Given the description of an element on the screen output the (x, y) to click on. 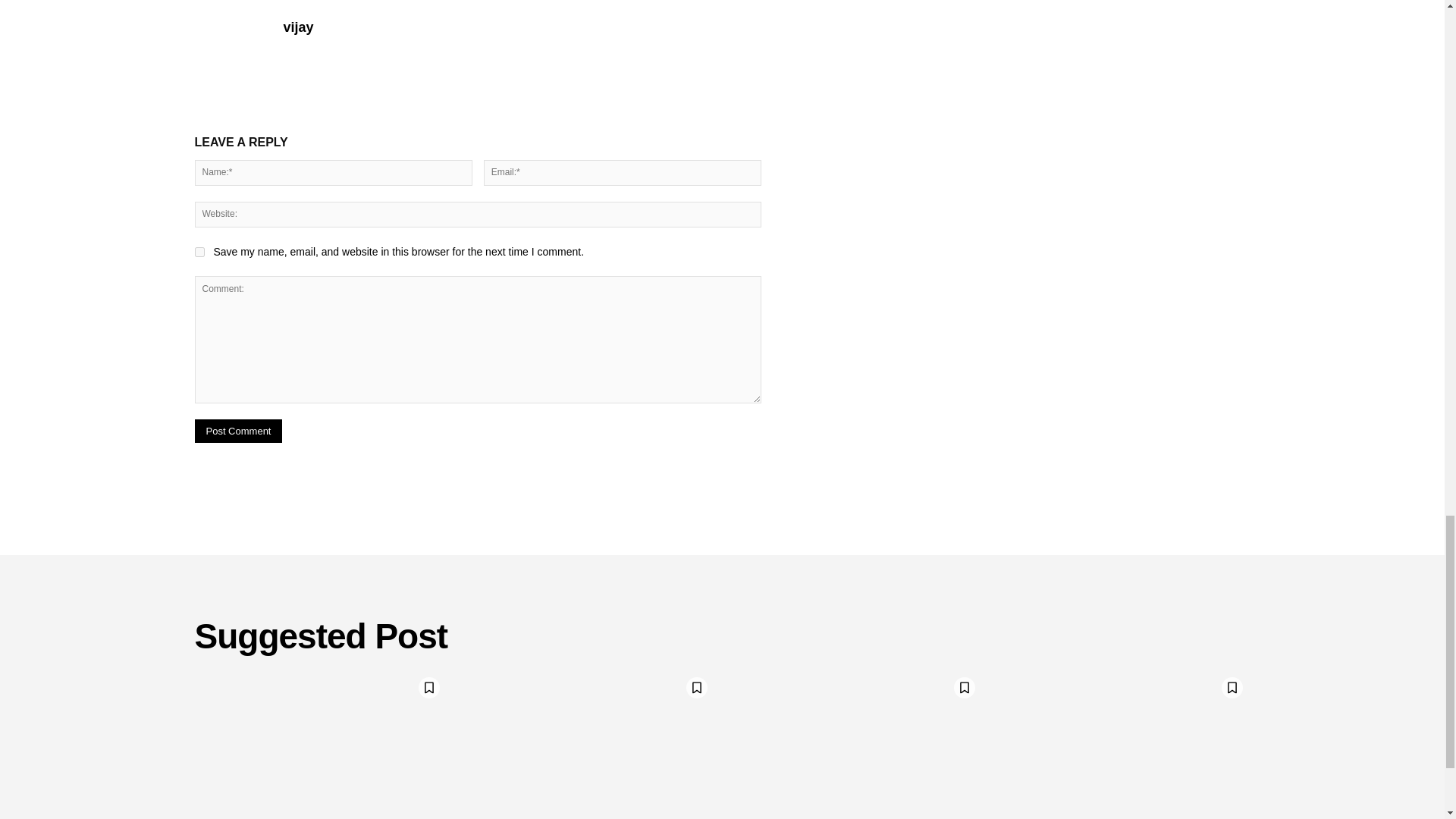
Post Comment (237, 431)
yes (198, 252)
vijay (298, 27)
Post Comment (237, 431)
vijay (229, 50)
